Given the description of an element on the screen output the (x, y) to click on. 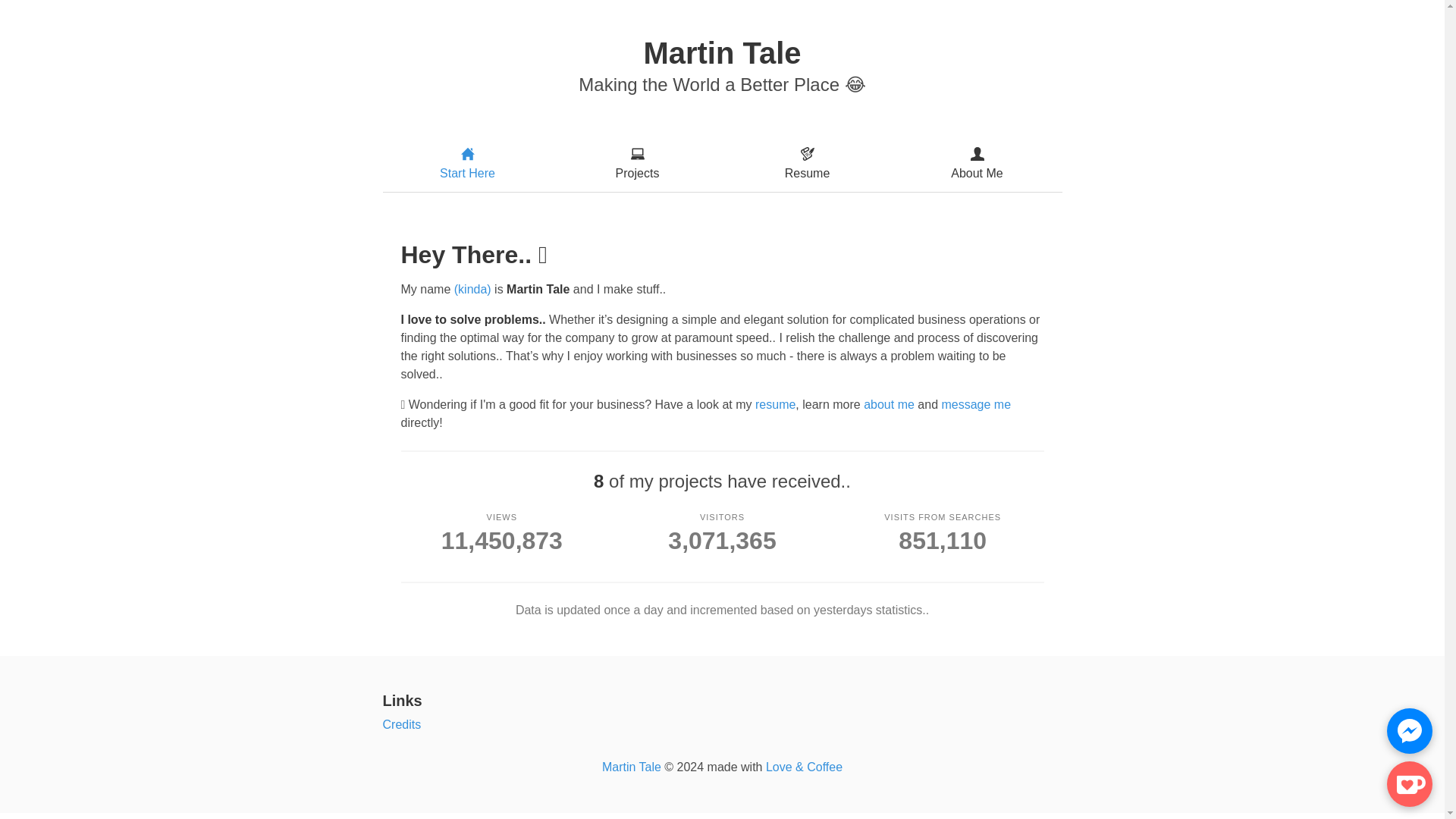
Start Here (466, 163)
Projects (636, 163)
Credits (400, 724)
Martin Tale (631, 766)
Message me on Facebook's Messenger (1409, 730)
Resume (806, 163)
About Me (976, 163)
my projects (722, 533)
resume (942, 533)
about me (675, 480)
Message me on Facebook's Messenger (774, 404)
message me (888, 404)
